Given the description of an element on the screen output the (x, y) to click on. 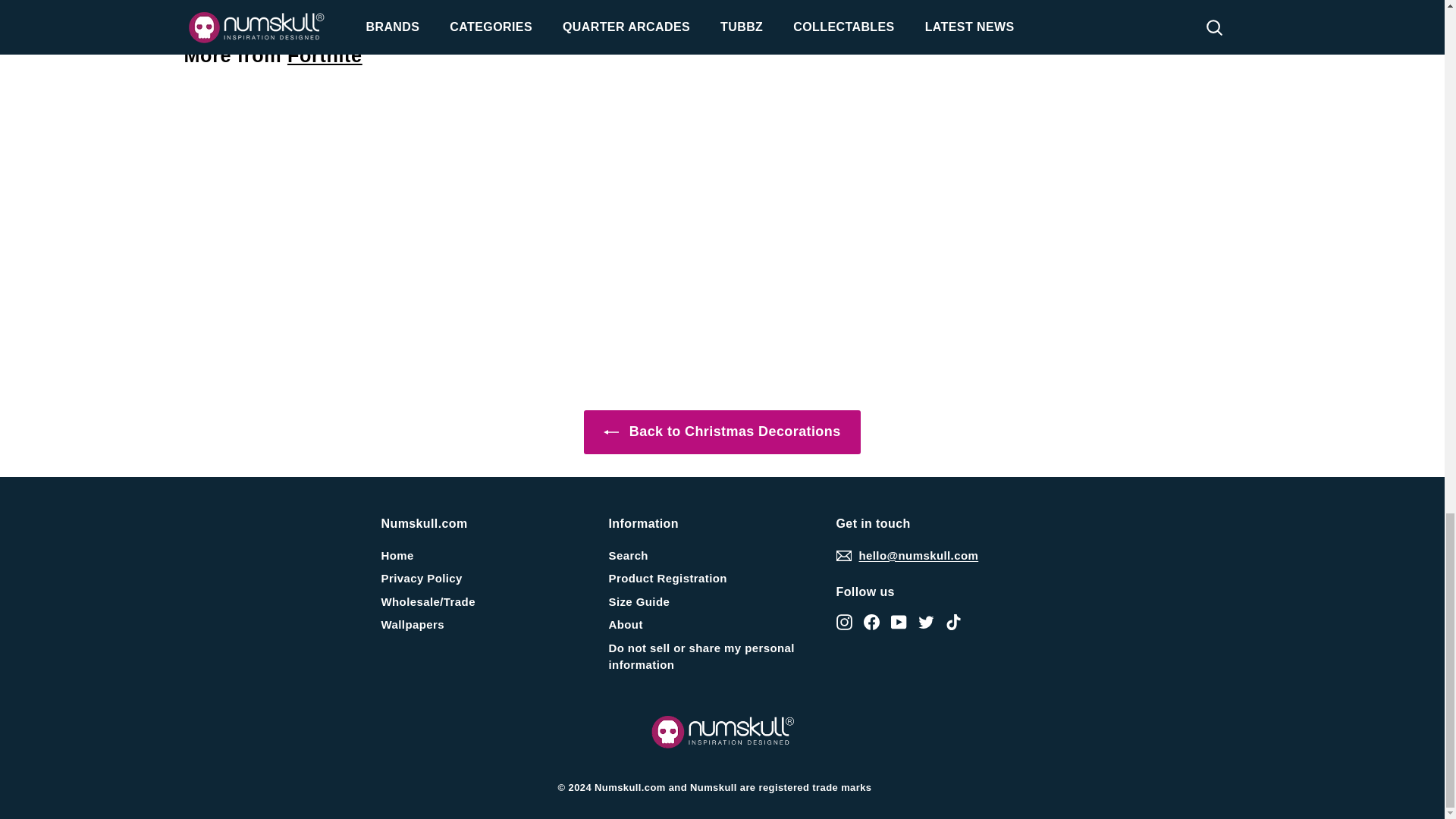
Numskull.com on TikTok (952, 620)
Numskull.com on Twitter (925, 620)
Numskull.com on Facebook (871, 620)
Numskull.com on YouTube (897, 620)
Numskull.com on Instagram (843, 620)
Fortnite (324, 55)
